Given the description of an element on the screen output the (x, y) to click on. 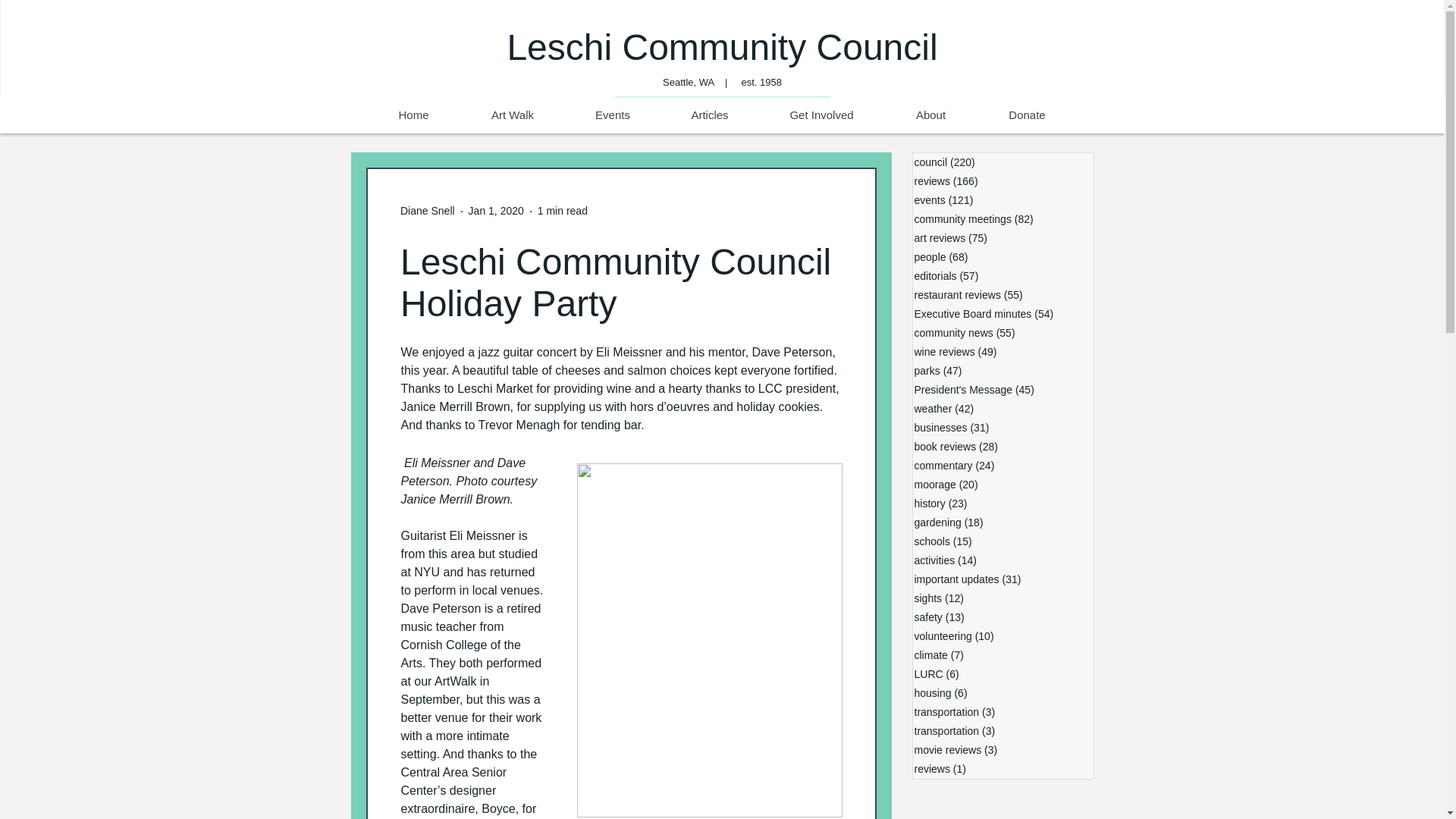
1 min read (562, 210)
Events (611, 114)
Get Involved (820, 114)
About (929, 114)
Home (413, 114)
Art Walk (512, 114)
Diane Snell (427, 211)
Diane Snell (427, 211)
Donate (1025, 114)
Leschi Community Council (721, 47)
Jan 1, 2020 (496, 210)
Articles (708, 114)
